Given the description of an element on the screen output the (x, y) to click on. 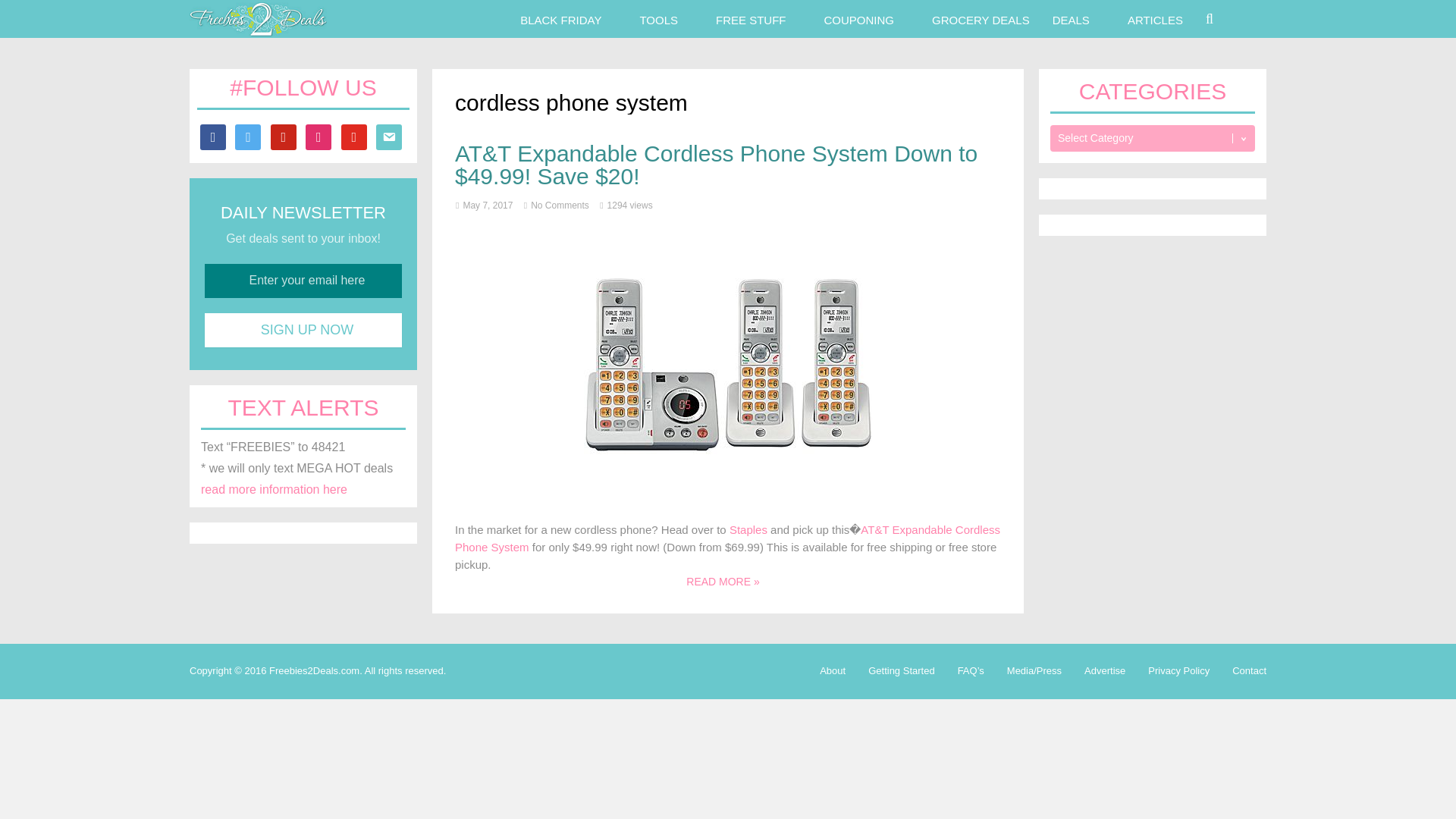
Freebies2Deals (257, 32)
Follow Me (247, 135)
Instagram (318, 135)
TOOLS (658, 18)
BLACK FRIDAY (560, 18)
Friend me on Facebook (212, 135)
Sign Up Now (303, 329)
